Given the description of an element on the screen output the (x, y) to click on. 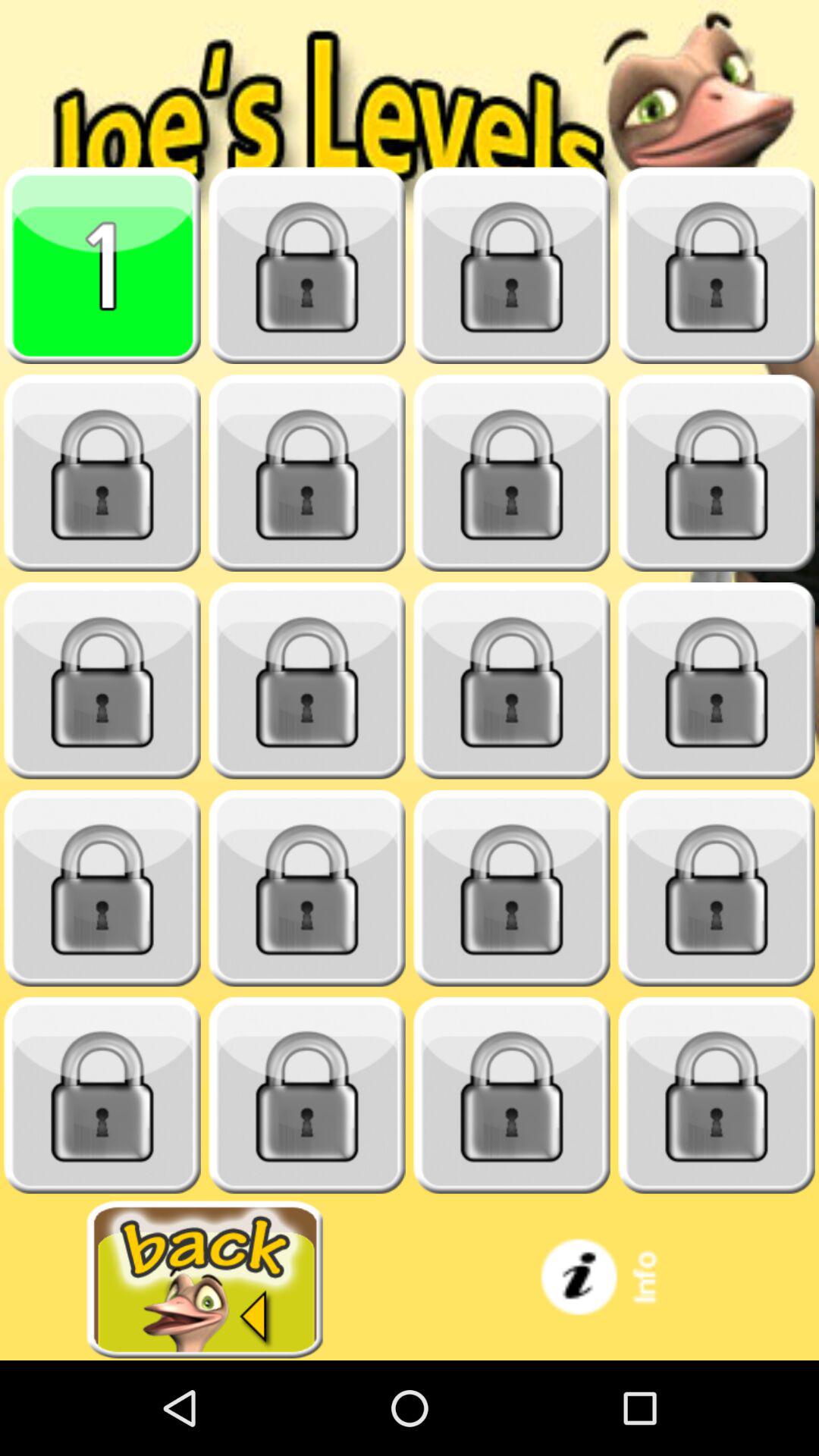
locked item (511, 887)
